Given the description of an element on the screen output the (x, y) to click on. 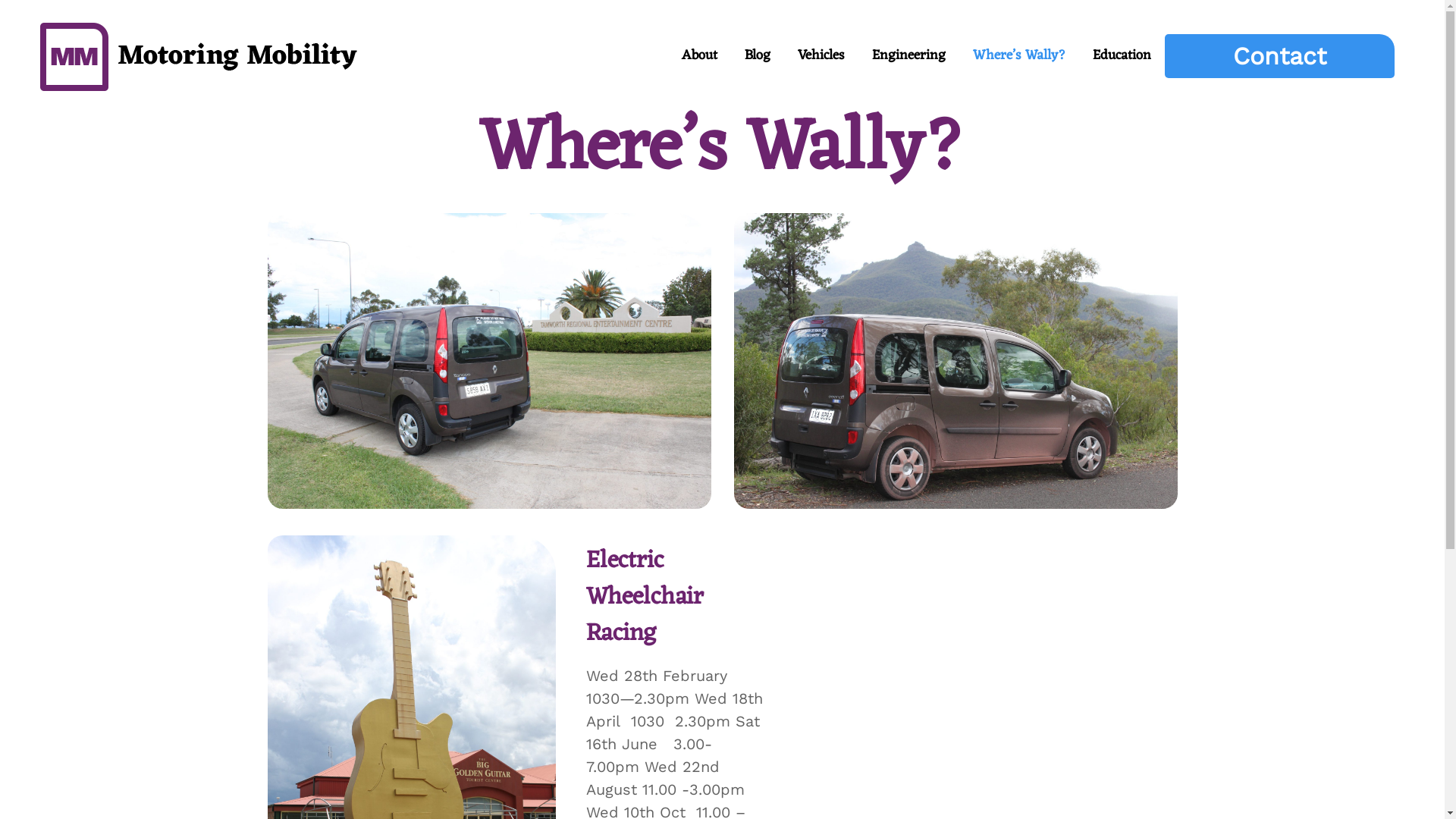
Blog Element type: text (757, 56)
Contact Element type: text (1279, 56)
Engineering Element type: text (908, 56)
motoringmobility Element type: hover (197, 82)
Education Element type: text (1121, 56)
Vehicles Element type: text (821, 56)
Electric Wheelchair Racing Element type: text (643, 597)
where's wally Element type: hover (488, 360)
About Element type: text (698, 56)
where's wally (2) Element type: hover (955, 360)
